Given the description of an element on the screen output the (x, y) to click on. 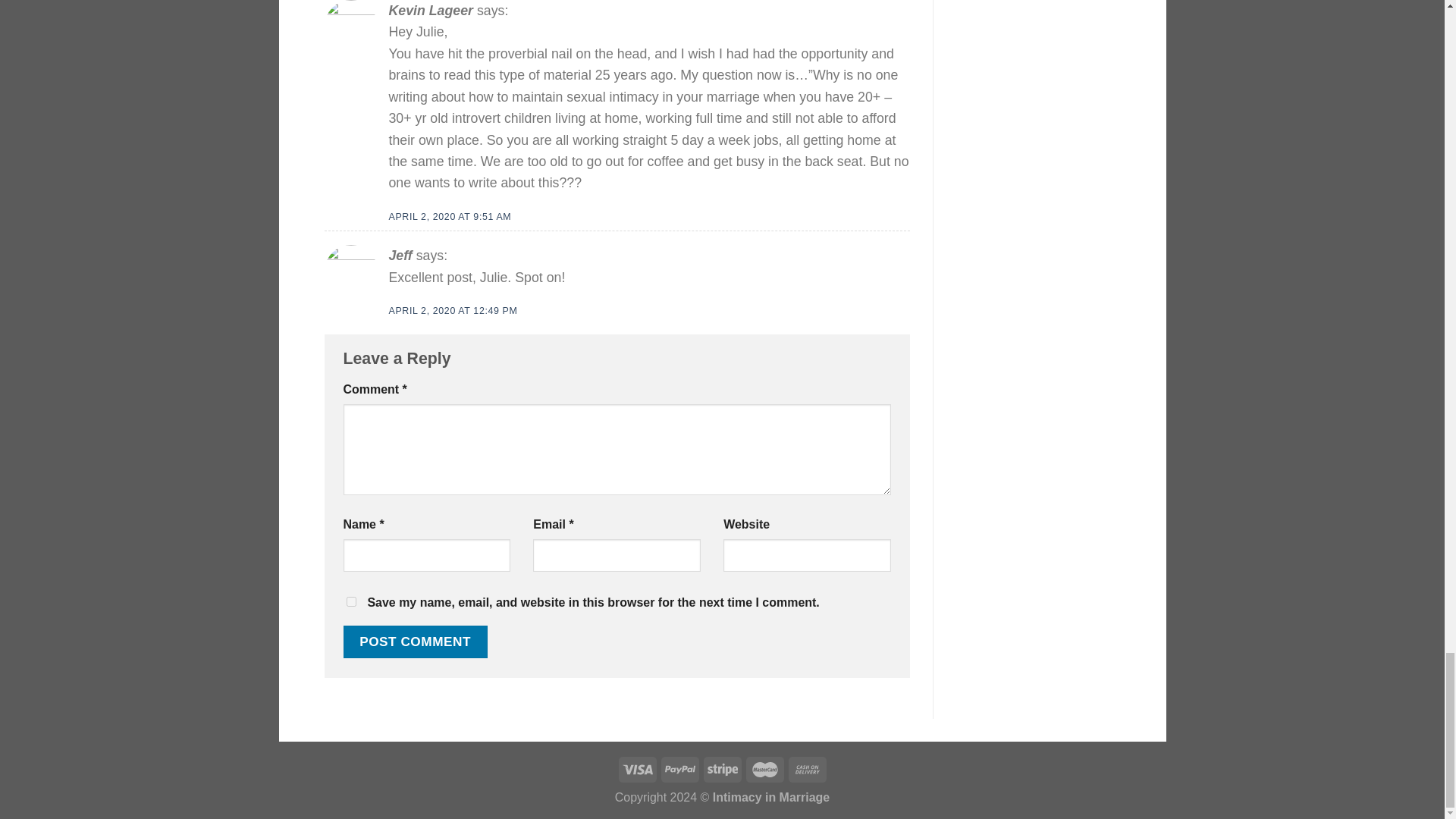
Post Comment (414, 641)
yes (350, 601)
